Given the description of an element on the screen output the (x, y) to click on. 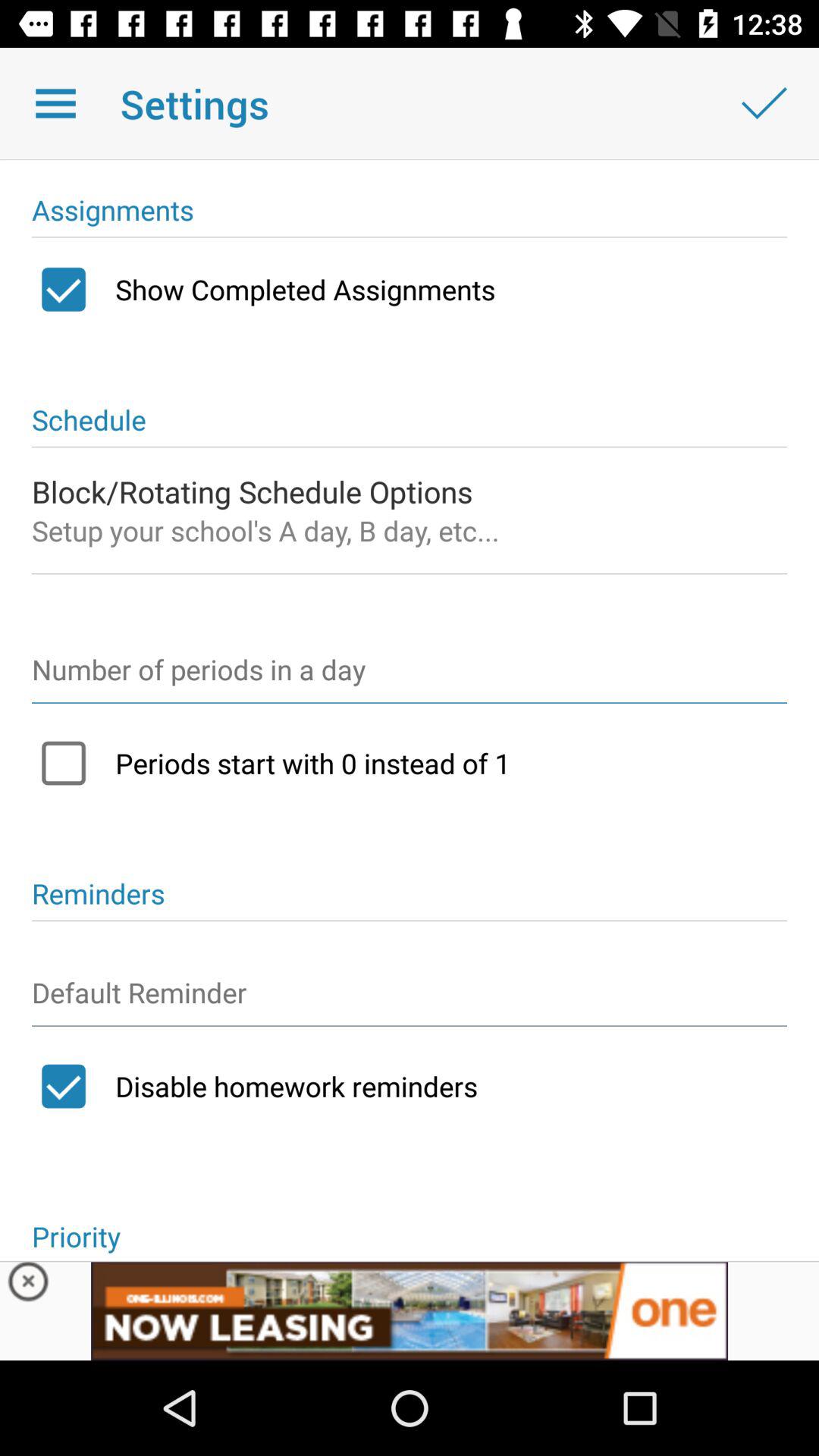
menu page (55, 103)
